Given the description of an element on the screen output the (x, y) to click on. 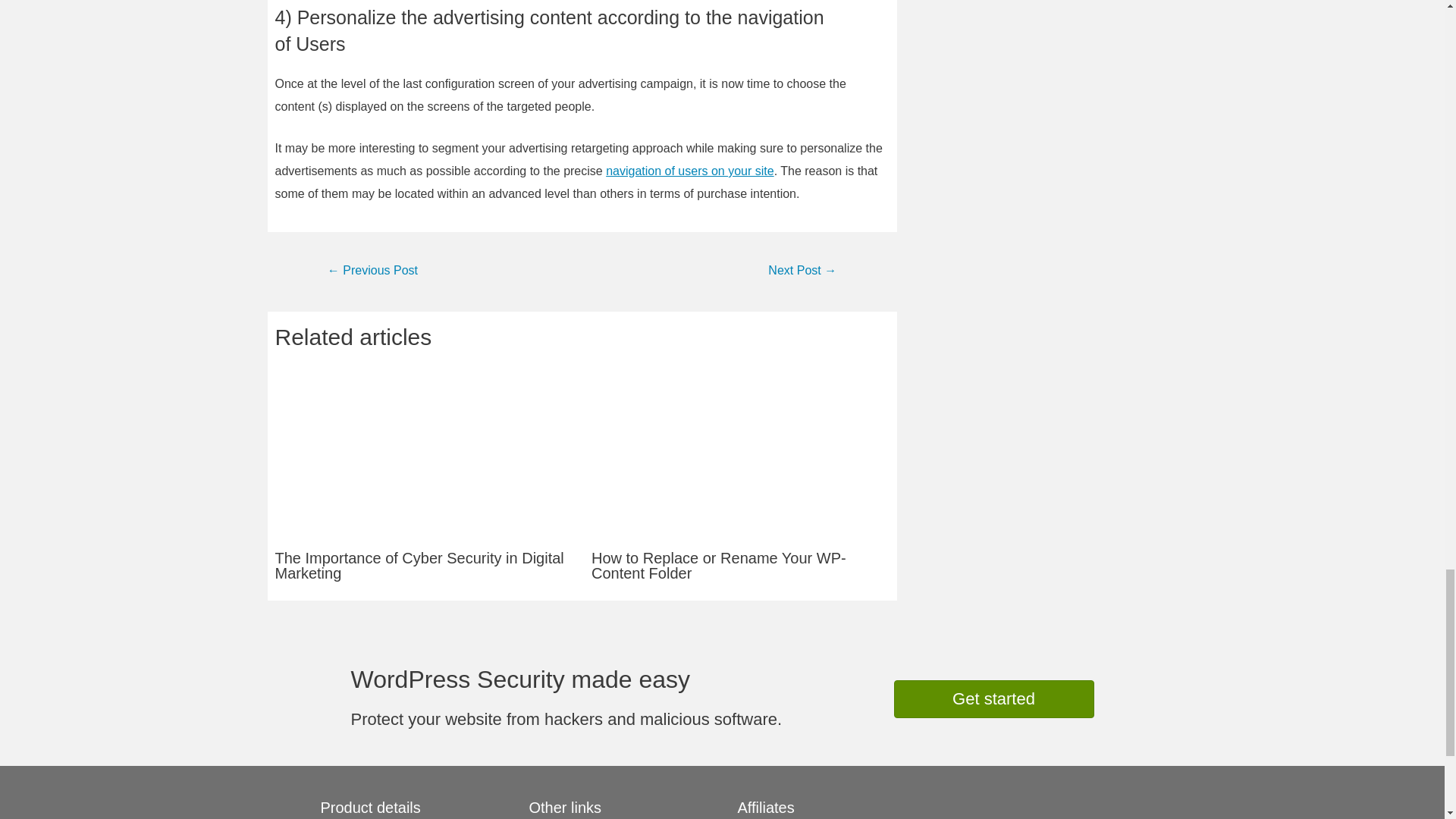
navigation of users on your site (689, 170)
Enhance Your Site with User-Friendly Navigation (689, 170)
7 Ways to Improve the Speed and Performance of Your Blog (801, 271)
How to Create and Add a Logo to a WordPress Site (371, 271)
